Given the description of an element on the screen output the (x, y) to click on. 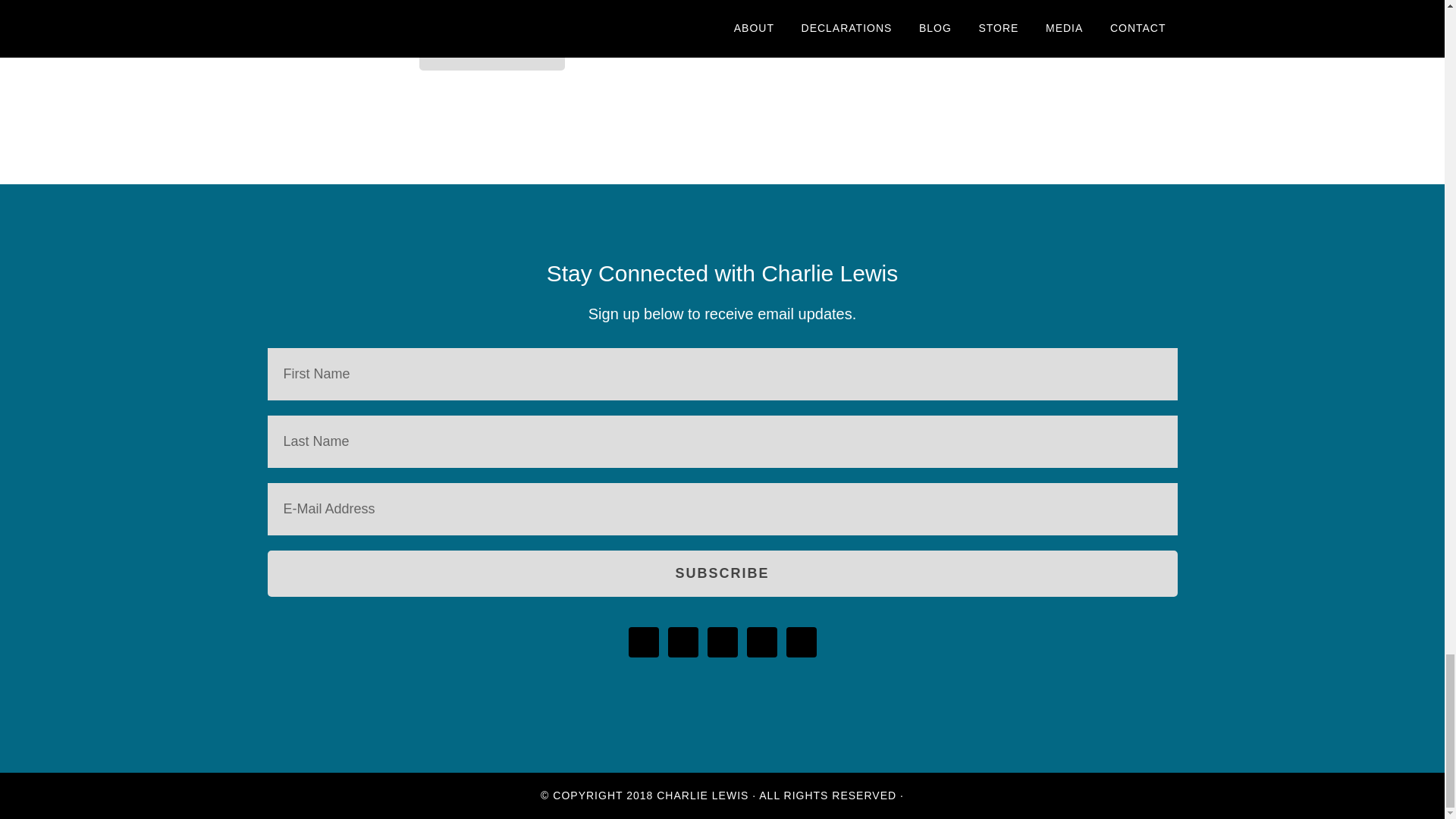
CHARLIE LEWIS (702, 795)
subscribe (423, 3)
Post Comment (491, 49)
Post Comment (491, 49)
Subscribe (721, 573)
Subscribe (721, 573)
